Given the description of an element on the screen output the (x, y) to click on. 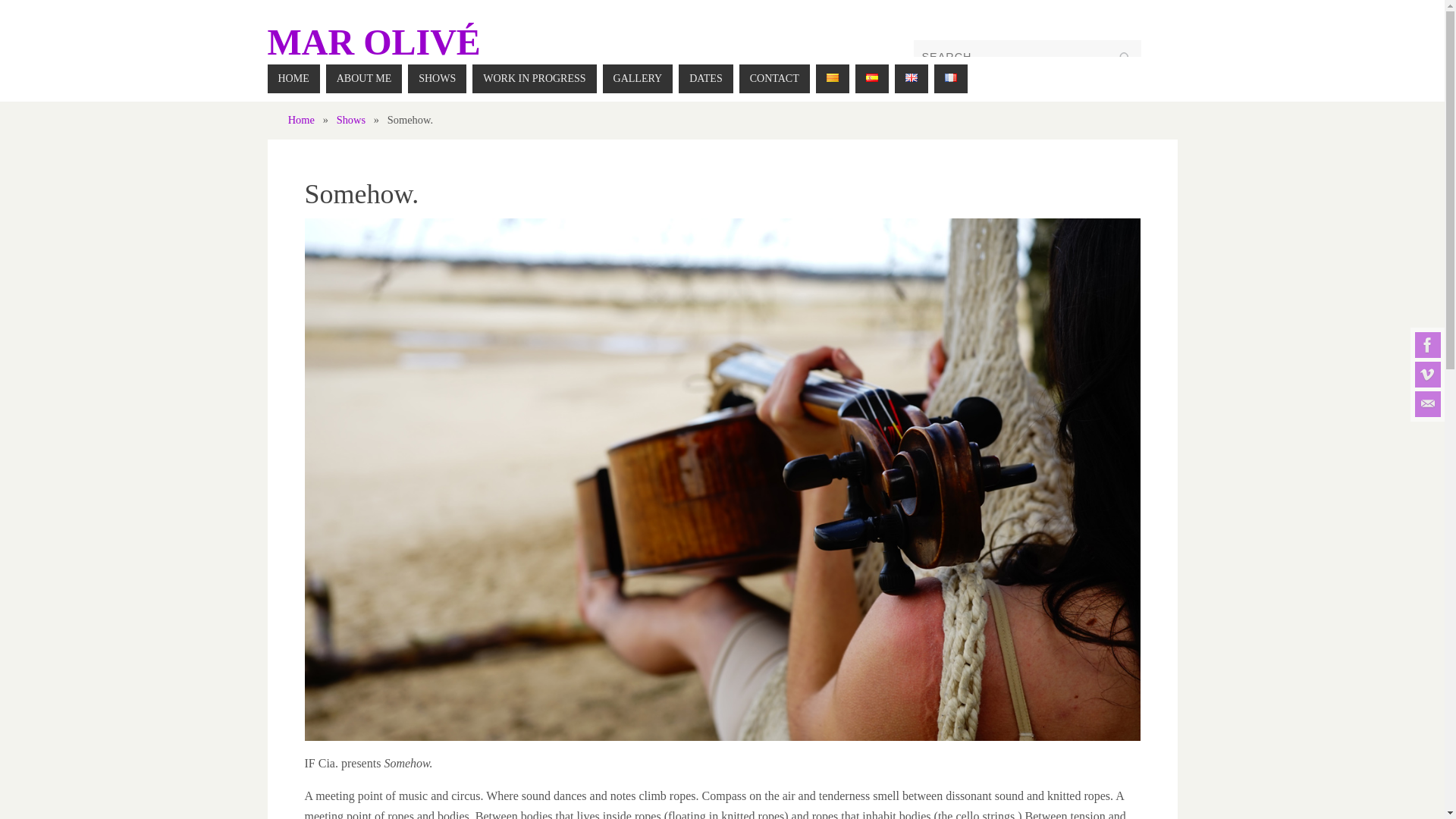
Home (301, 119)
CONTACT (774, 78)
facebook-marolive (1428, 344)
WORK IN PROGRESS (533, 78)
vimeo-marolive (1428, 374)
mail (1428, 403)
Shows (350, 119)
ABOUT ME (363, 78)
SHOWS (436, 78)
HOME (292, 78)
